Given the description of an element on the screen output the (x, y) to click on. 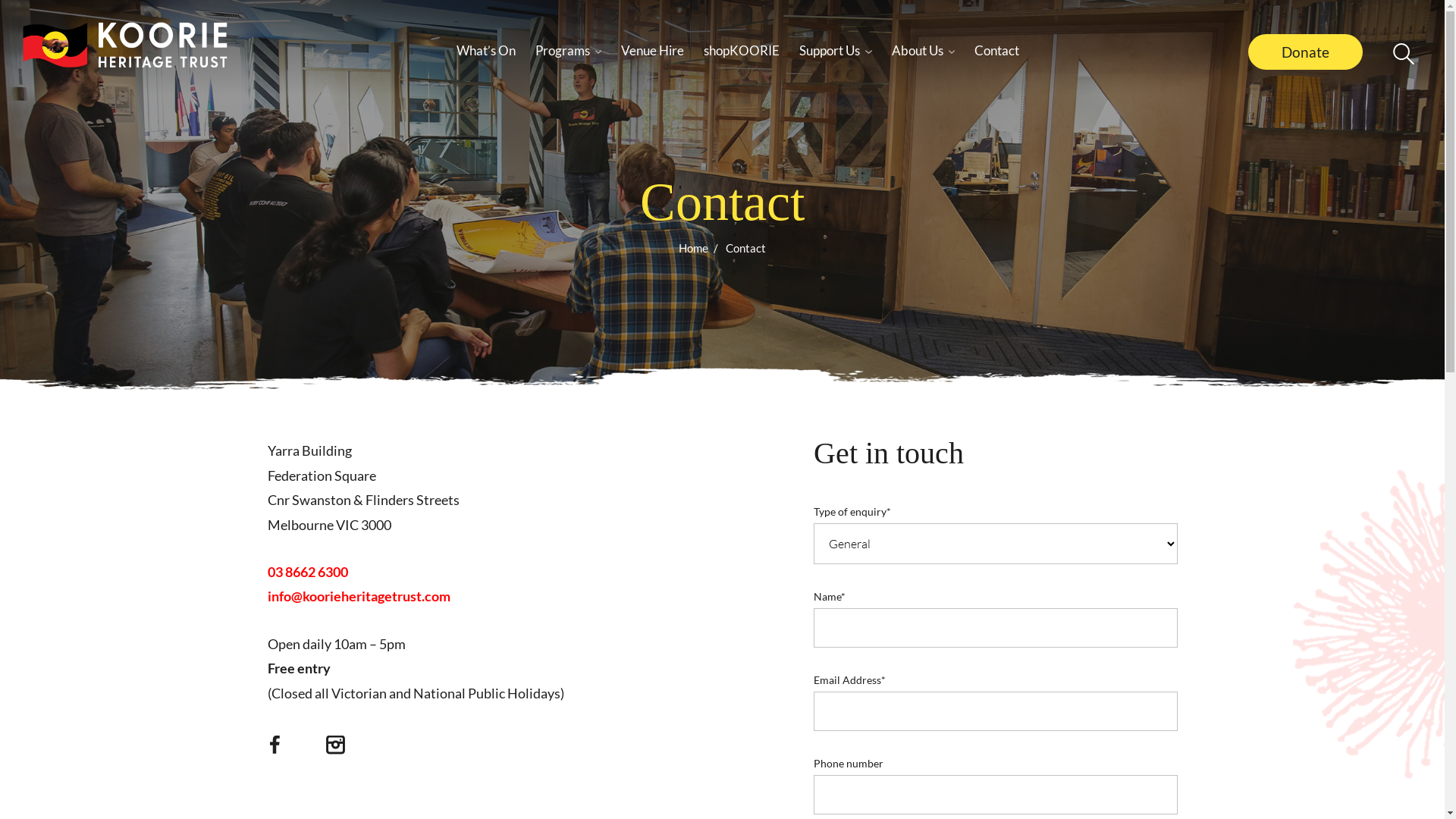
Koorie Heritage Trust Element type: text (124, 44)
Find us on Facebook Element type: hover (274, 748)
About Us Element type: text (923, 49)
Donate Element type: text (1305, 51)
info@koorieheritagetrust.com Element type: text (357, 595)
03 8662 6300 Element type: text (306, 571)
Venue Hire Element type: text (652, 49)
Contact Element type: text (996, 49)
shopKOORIE Element type: text (741, 49)
Follw us on Instagram Element type: hover (335, 748)
Support Us Element type: text (835, 49)
Home Element type: text (693, 247)
Programs Element type: text (568, 49)
